Given the description of an element on the screen output the (x, y) to click on. 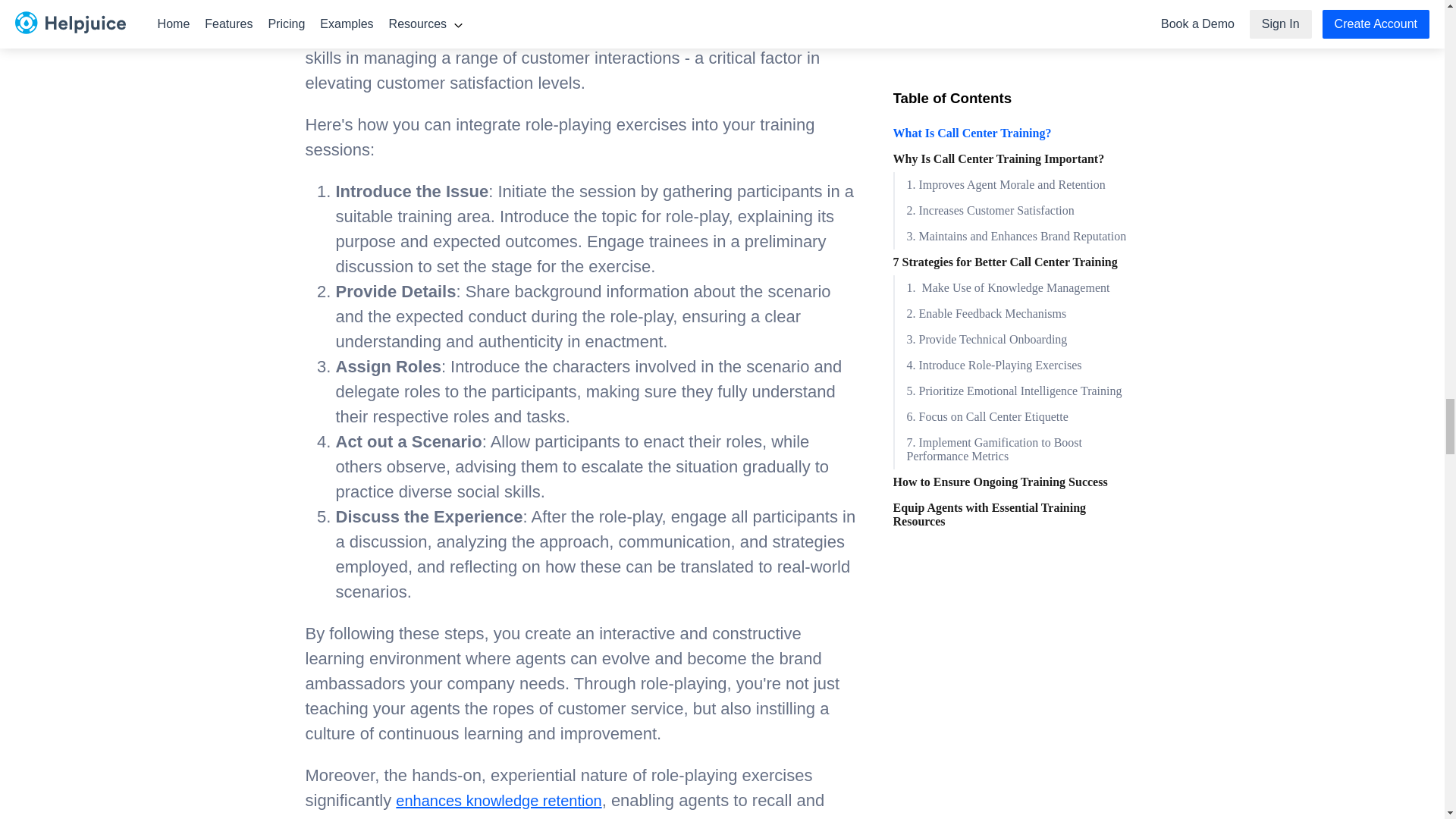
enhances knowledge retention (498, 800)
